Given the description of an element on the screen output the (x, y) to click on. 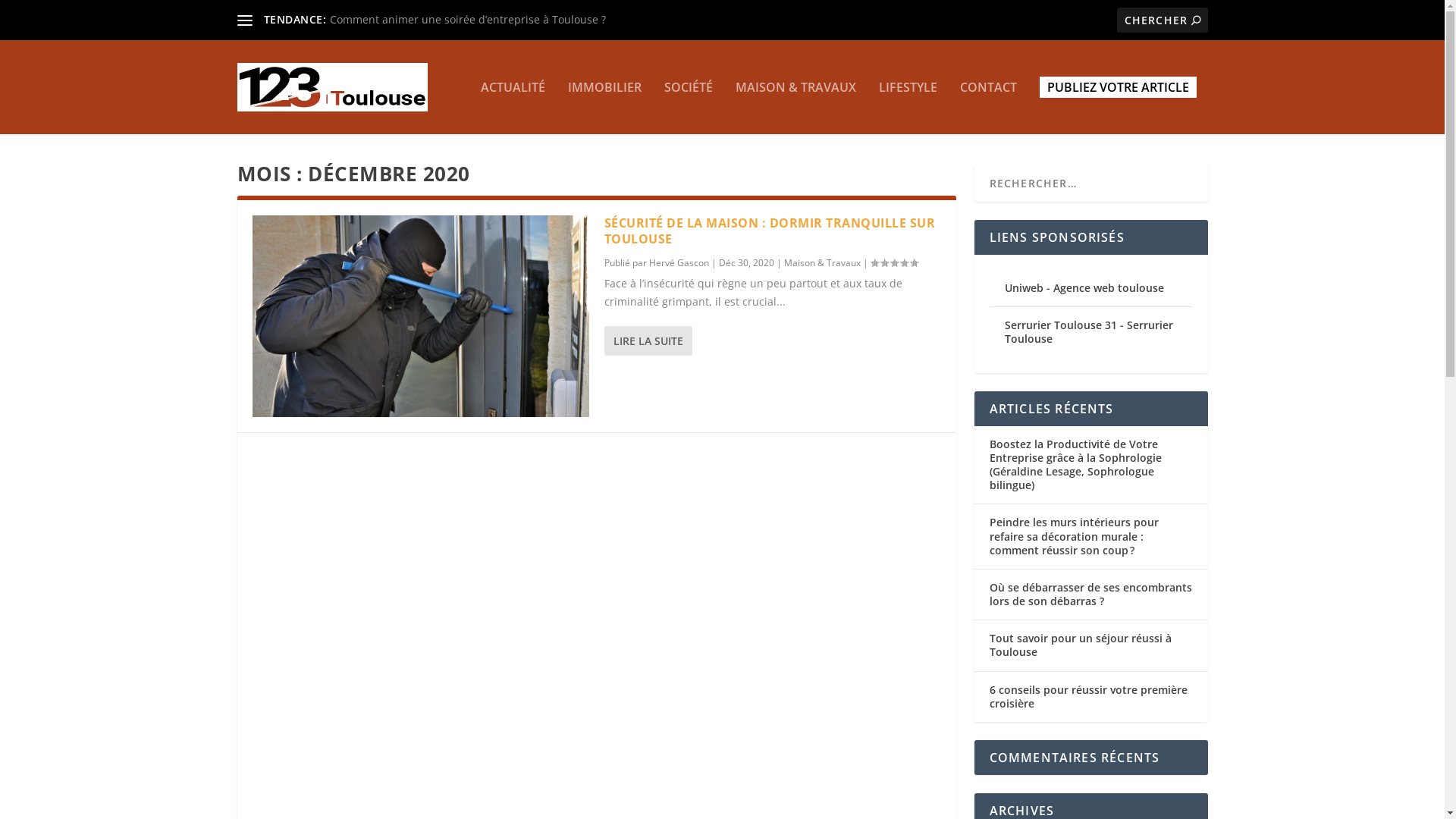
IMMOBILIER Element type: text (603, 107)
MAISON & TRAVAUX Element type: text (795, 107)
PUBLIEZ VOTRE ARTICLE Element type: text (1116, 86)
Note:0.00 Element type: hover (893, 262)
LIRE LA SUITE Element type: text (647, 340)
Maison & Travaux Element type: text (822, 262)
Serrurier Toulouse 31 - Serrurier Toulouse Element type: text (1088, 331)
Uniweb - Agence web toulouse Element type: text (1083, 287)
Rechercher Element type: text (43, 14)
Rechercher: Element type: hover (1161, 19)
CONTACT Element type: text (988, 107)
LIFESTYLE Element type: text (907, 107)
